Given the description of an element on the screen output the (x, y) to click on. 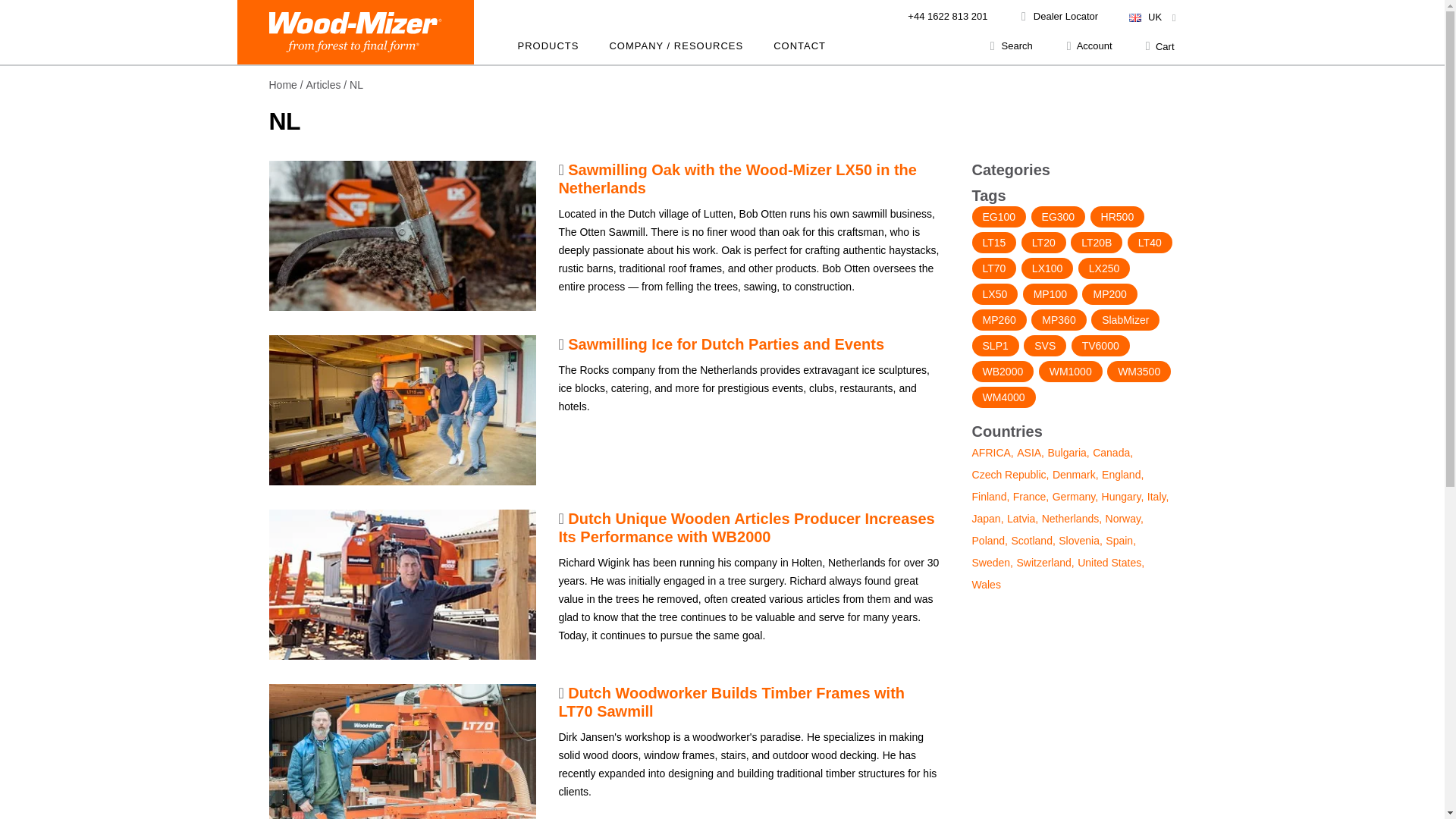
Go to Home Page (282, 84)
Articles (322, 84)
